Given the description of an element on the screen output the (x, y) to click on. 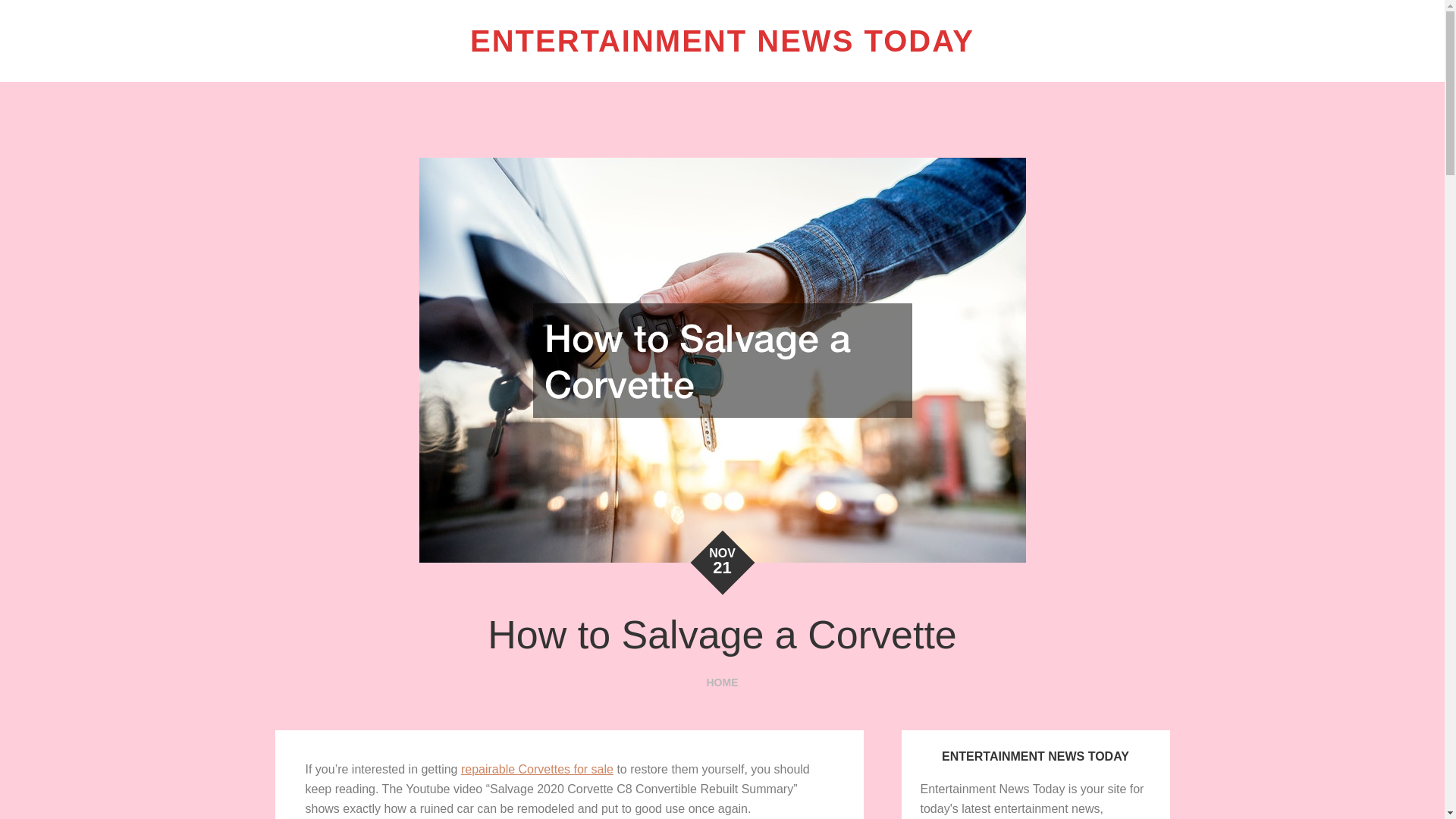
repairable Corvettes for sale (536, 768)
HOME (722, 682)
ENTERTAINMENT NEWS TODAY (722, 40)
